Given the description of an element on the screen output the (x, y) to click on. 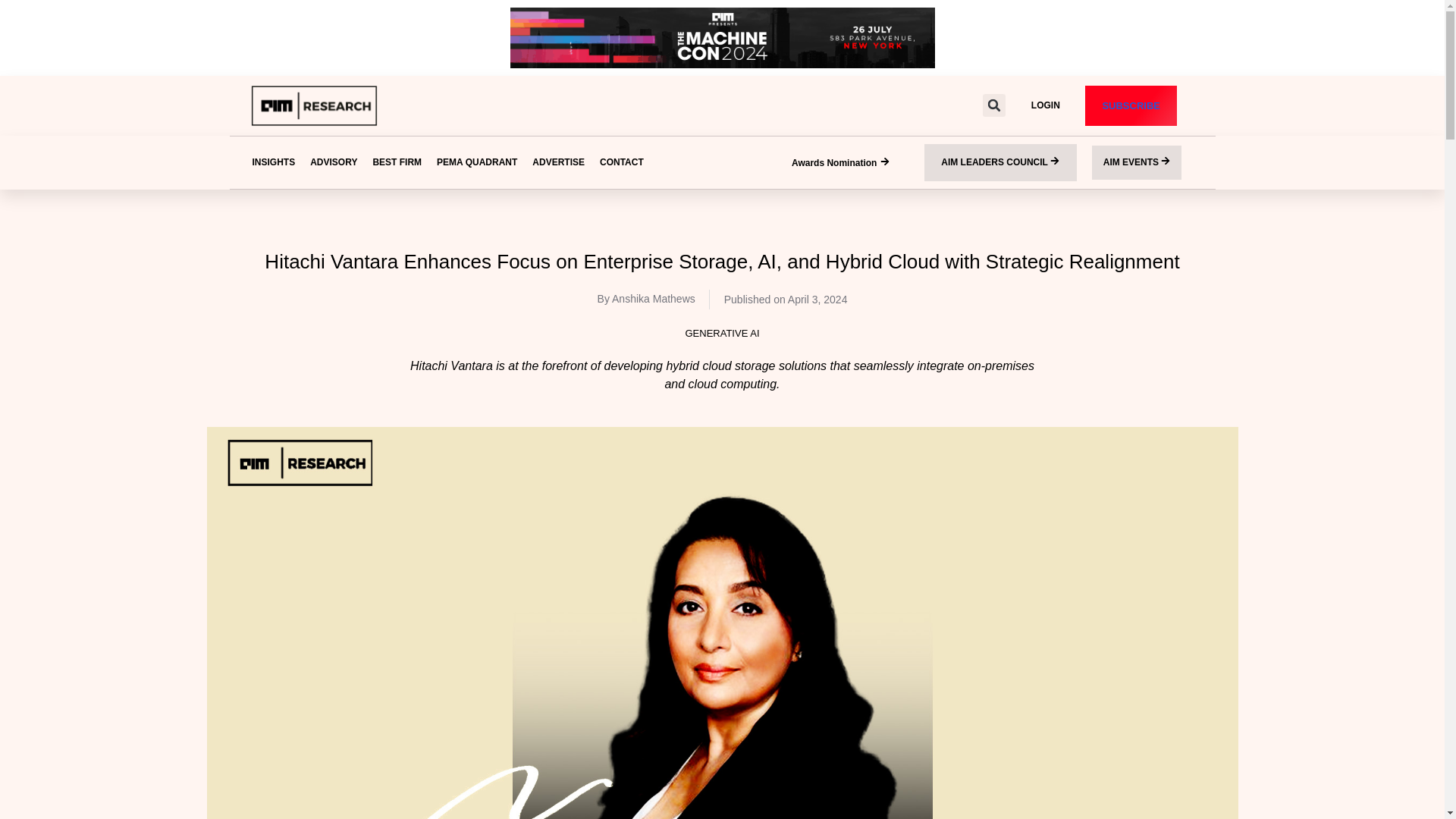
INSIGHTS (272, 161)
By Anshika Mathews (645, 298)
PEMA QUADRANT (477, 161)
CONTACT (622, 161)
ADVERTISE (557, 161)
BEST FIRM (396, 161)
AIM LEADERS COUNCIL (1000, 162)
GENERATIVE AI (721, 333)
Awards Nomination (840, 163)
ADVISORY (333, 161)
LOGIN (1045, 105)
AIM EVENTS (1137, 162)
SUBSCRIBE (1130, 105)
